Given the description of an element on the screen output the (x, y) to click on. 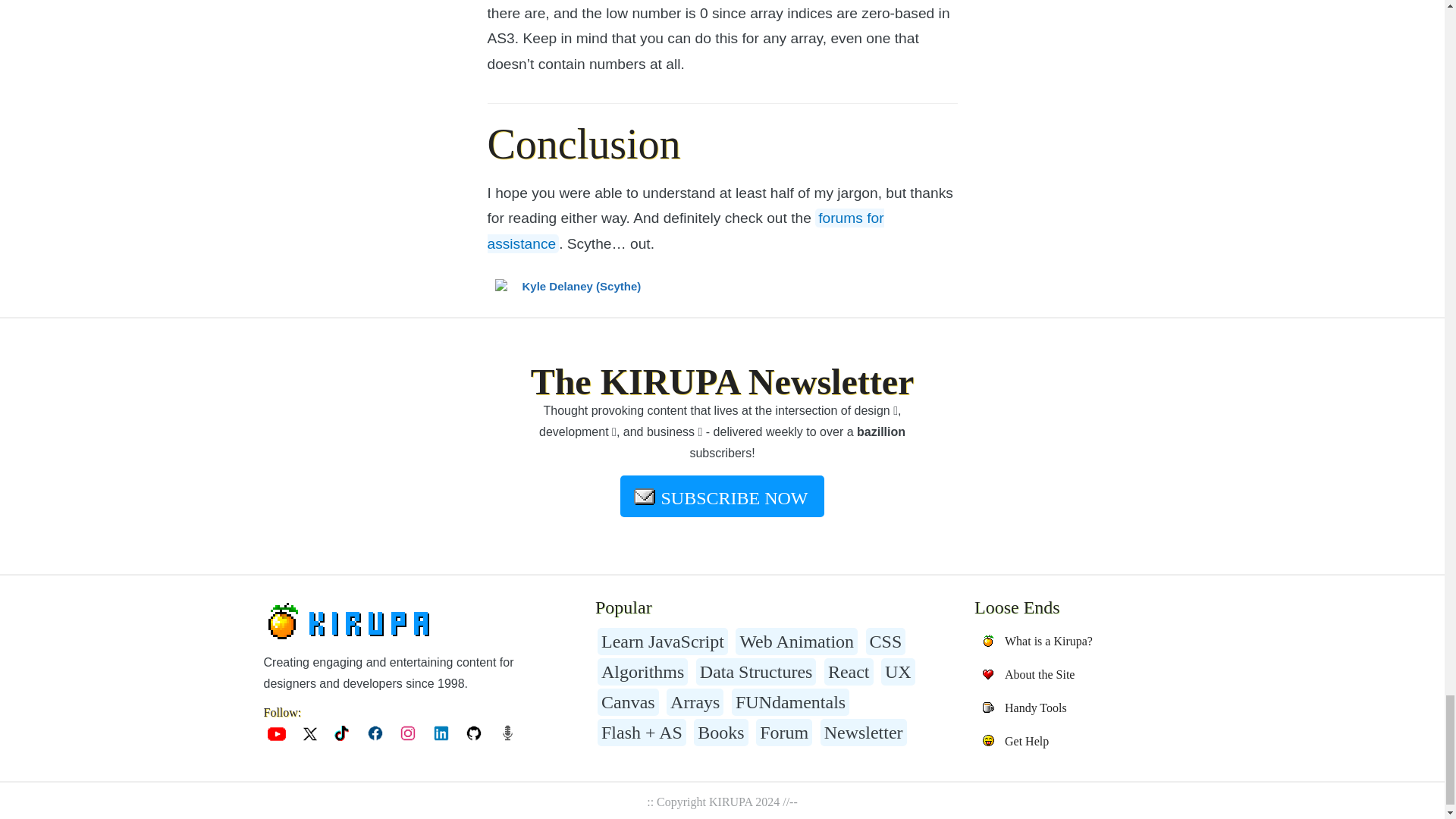
Learn JavaScript (662, 641)
forums for assistance (684, 230)
Web Animation (796, 641)
SUBSCRIBE NOW (722, 495)
